Given the description of an element on the screen output the (x, y) to click on. 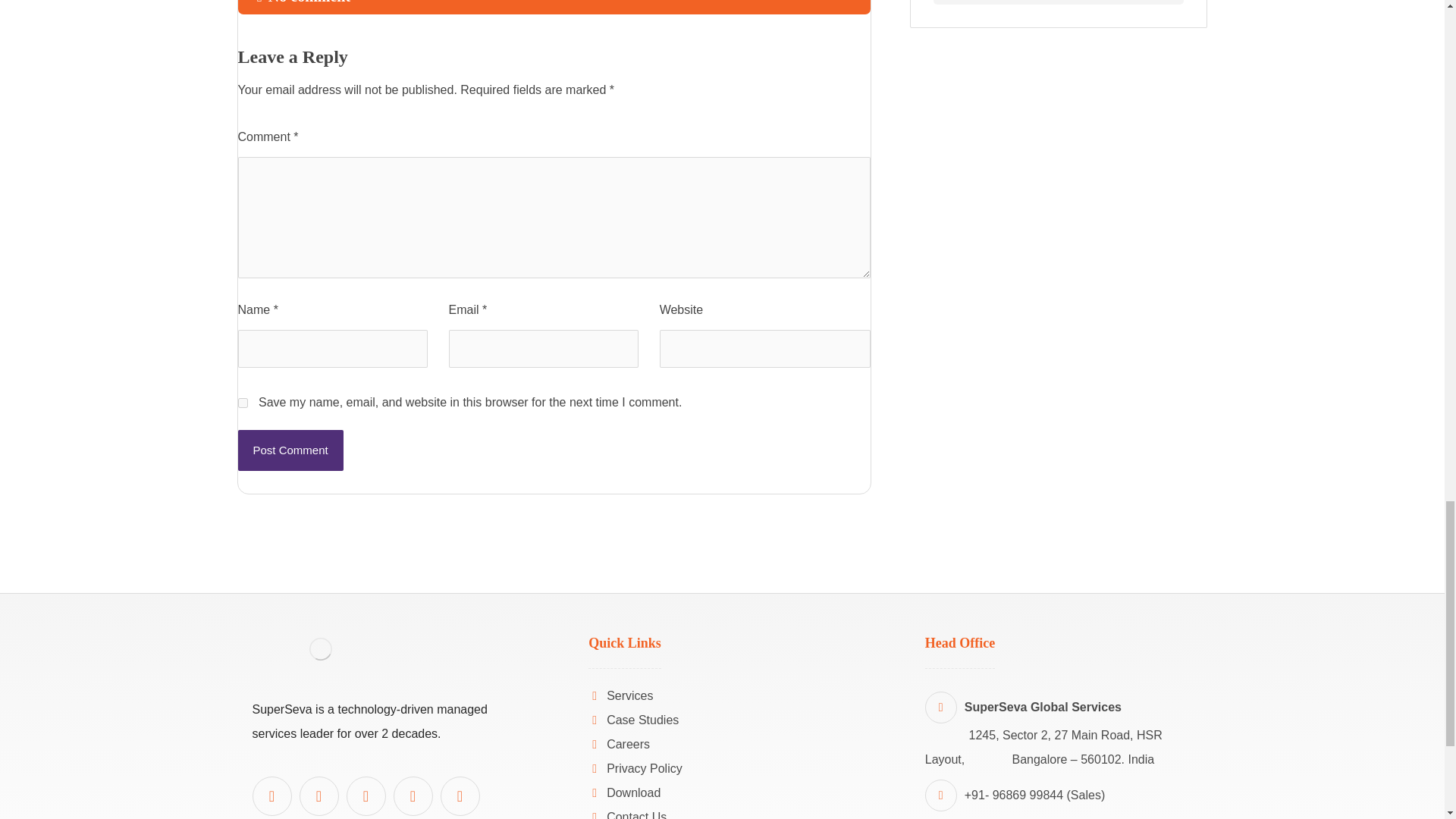
Twitter (412, 795)
yes (242, 402)
Post Comment (290, 449)
Linkedin (271, 795)
Ads (1058, 2)
Facebook (365, 795)
youtube (317, 795)
Instagram (459, 795)
